Given the description of an element on the screen output the (x, y) to click on. 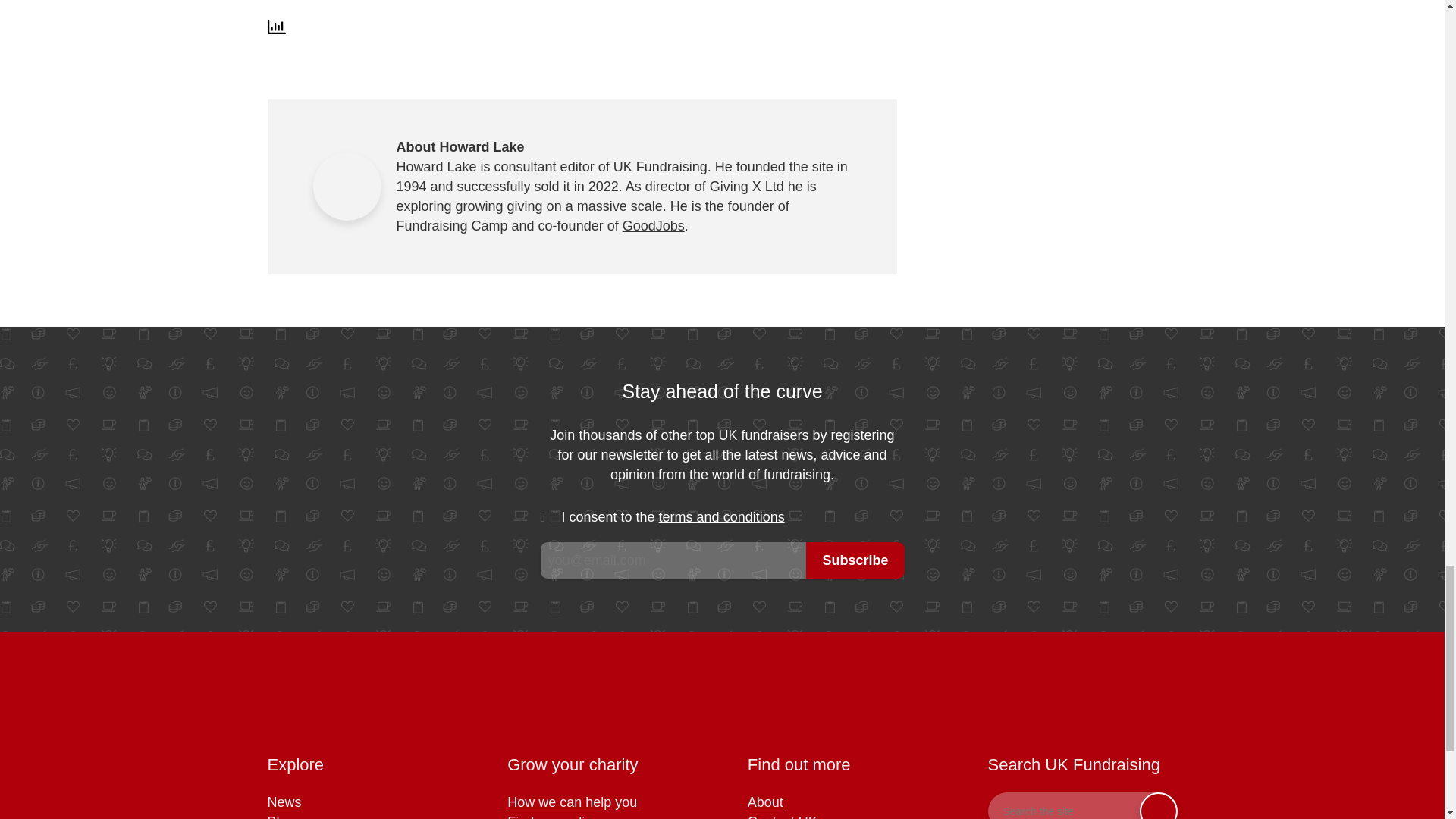
Subscribe (855, 560)
on (551, 517)
